Given the description of an element on the screen output the (x, y) to click on. 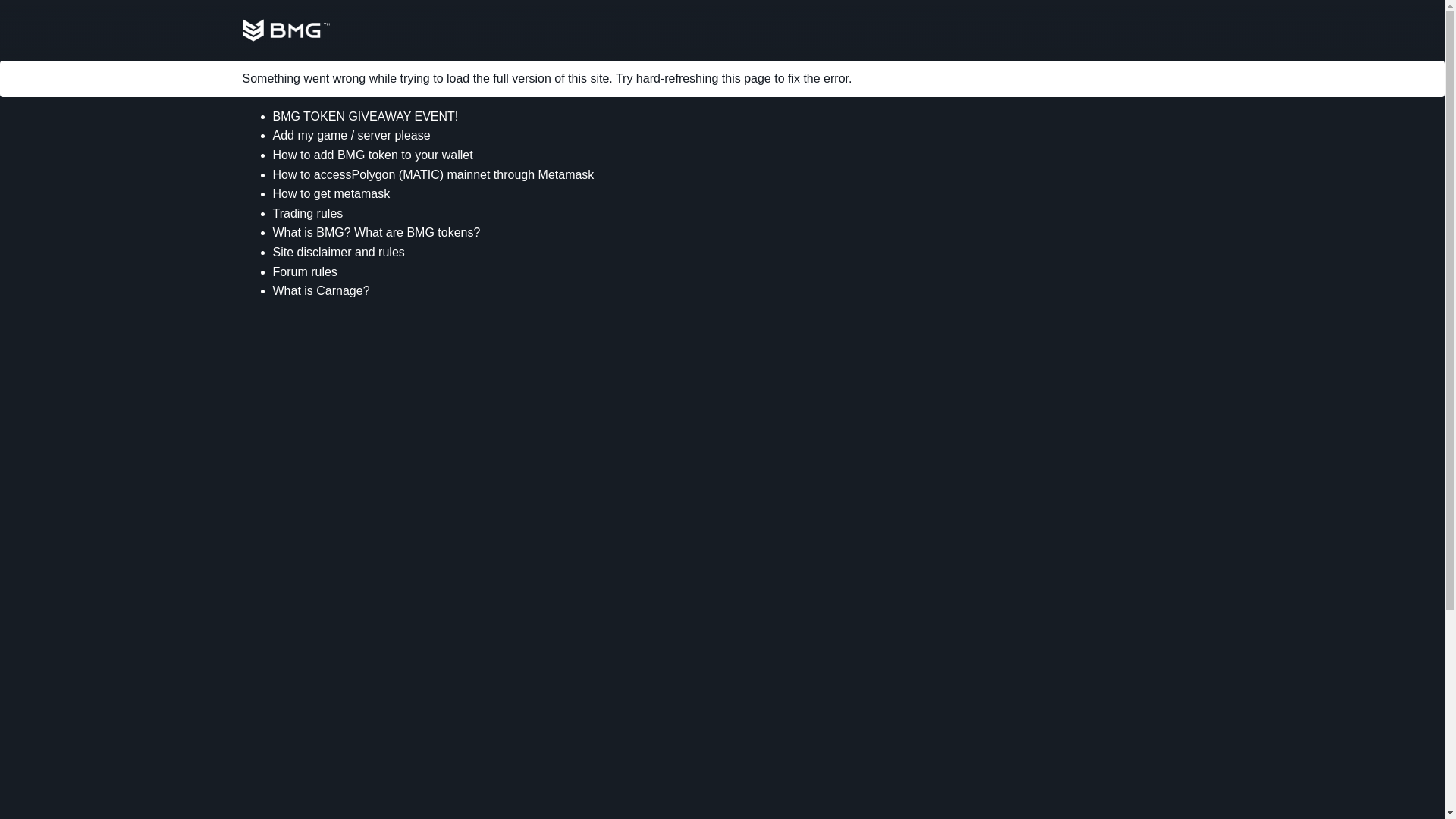
How to add BMG token to your wallet (373, 154)
Site disclaimer and rules (338, 251)
Forum rules (305, 271)
What is Carnage? (321, 290)
How to get metamask (331, 193)
BMG TOKEN GIVEAWAY EVENT! (365, 115)
What is BMG? What are BMG tokens? (376, 232)
Trading rules (308, 213)
